Given the description of an element on the screen output the (x, y) to click on. 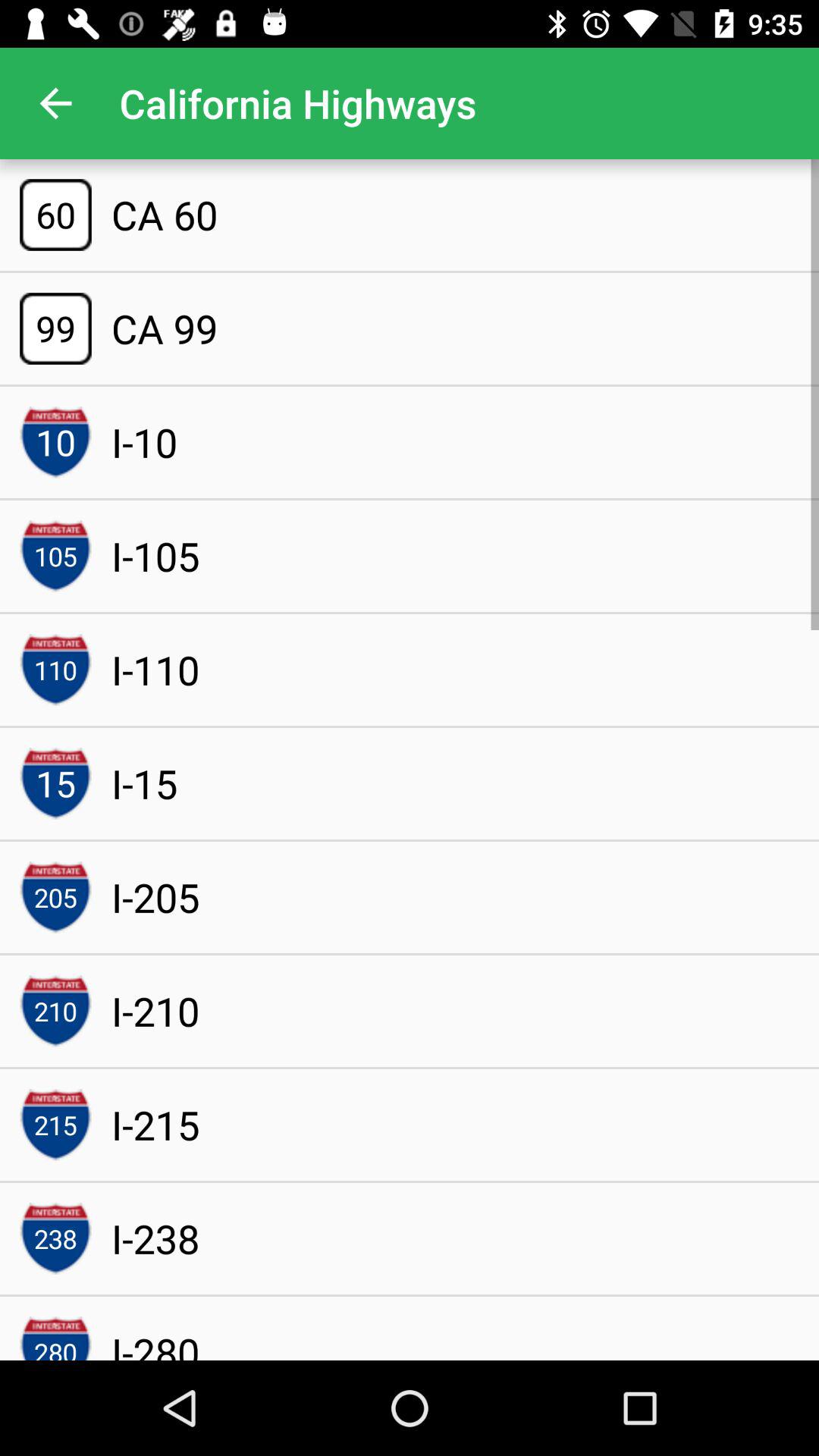
turn on icon below i-10 item (155, 555)
